Given the description of an element on the screen output the (x, y) to click on. 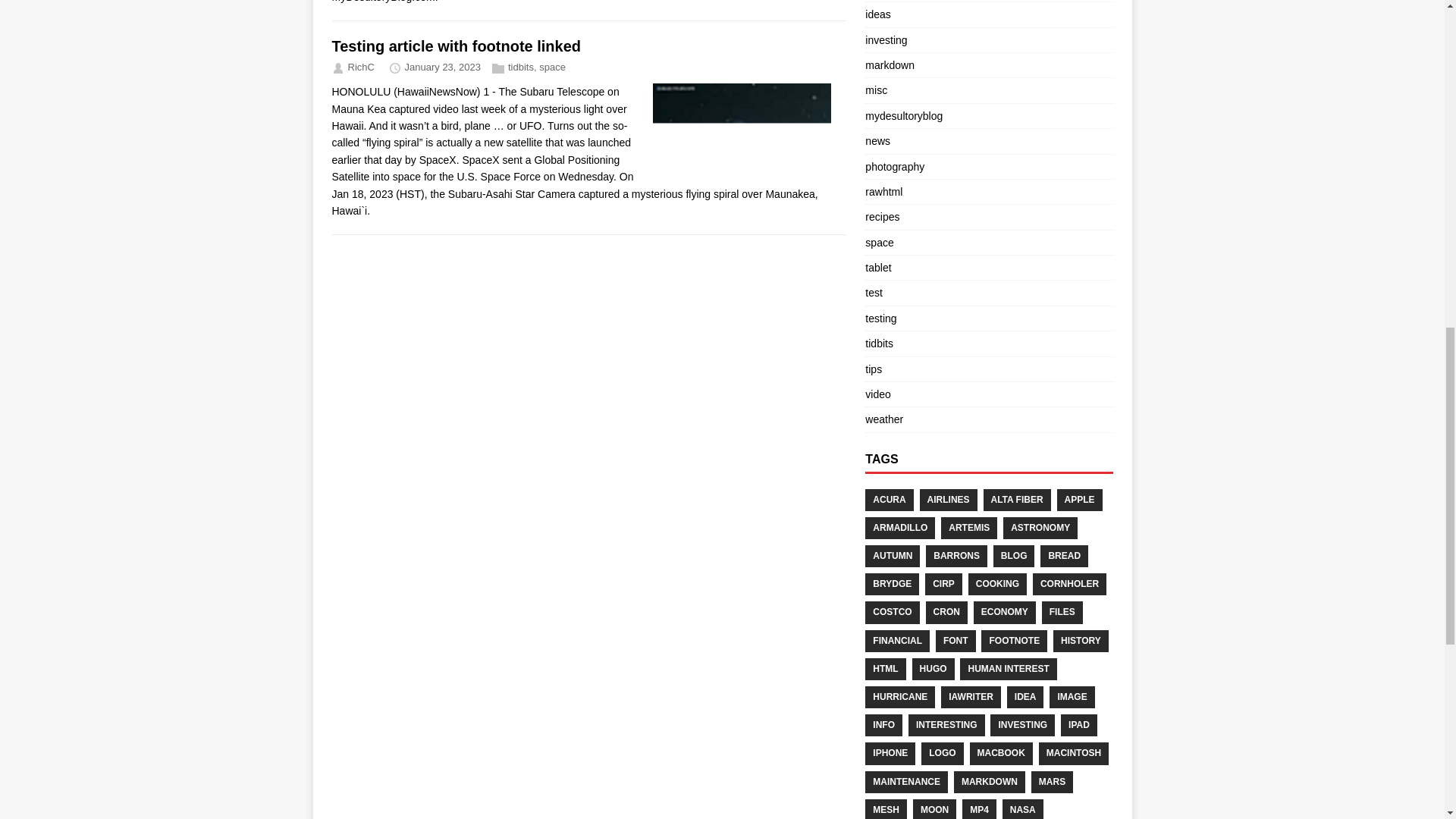
ideas (876, 14)
ARTEMIS (968, 527)
airlines (948, 499)
history (1080, 640)
footnote (1013, 640)
ipad (1079, 725)
idea (1025, 697)
AIRLINES (948, 499)
iawriter (970, 697)
BRYDGE (891, 584)
blog (1013, 556)
Costco (891, 612)
ARMADILLO (899, 527)
news (876, 141)
mydesultoryblog (903, 115)
